Given the description of an element on the screen output the (x, y) to click on. 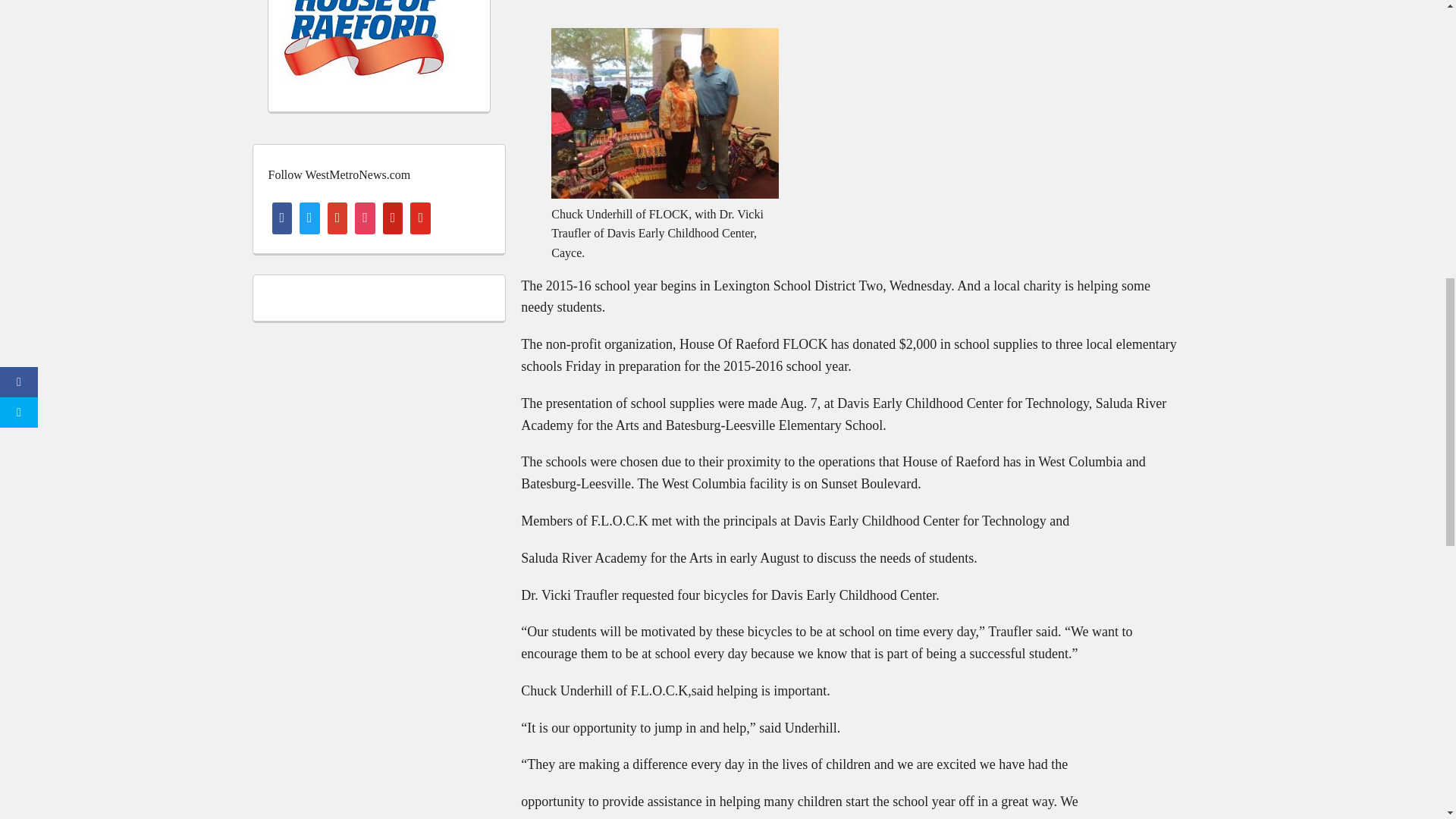
Follow WestMetroNews.com (338, 174)
Follow WestMetroNews.com (338, 174)
